Given the description of an element on the screen output the (x, y) to click on. 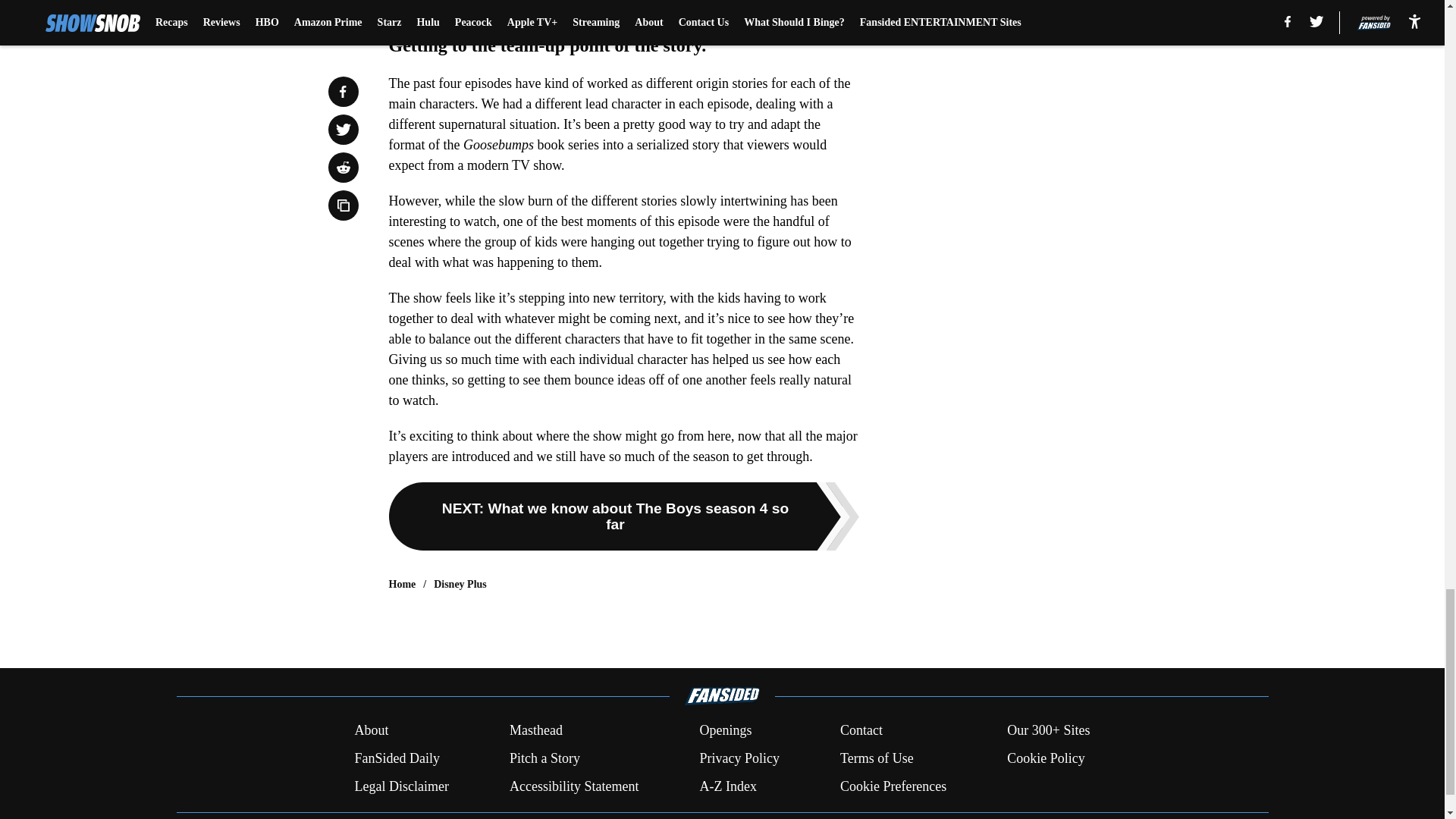
Privacy Policy (738, 758)
Openings (724, 730)
About (370, 730)
Cookie Policy (1045, 758)
Home (401, 584)
Terms of Use (877, 758)
Disney Plus (459, 584)
Masthead (535, 730)
NEXT: What we know about The Boys season 4 so far (623, 516)
FanSided Daily (396, 758)
Pitch a Story (544, 758)
Contact (861, 730)
Legal Disclaimer (400, 786)
